Given the description of an element on the screen output the (x, y) to click on. 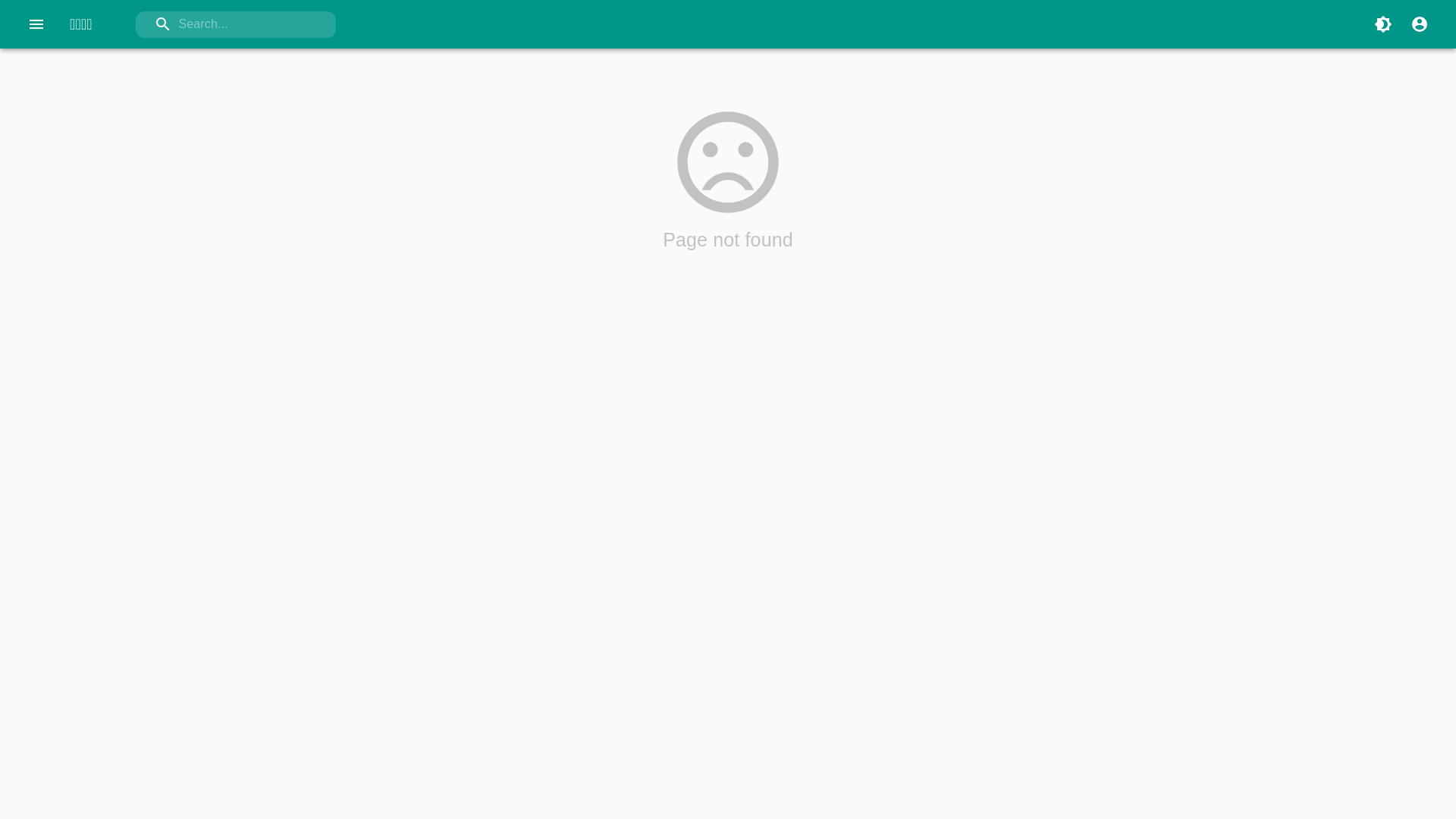
Switch to dark theme Element type: hover (1383, 24)
